Given the description of an element on the screen output the (x, y) to click on. 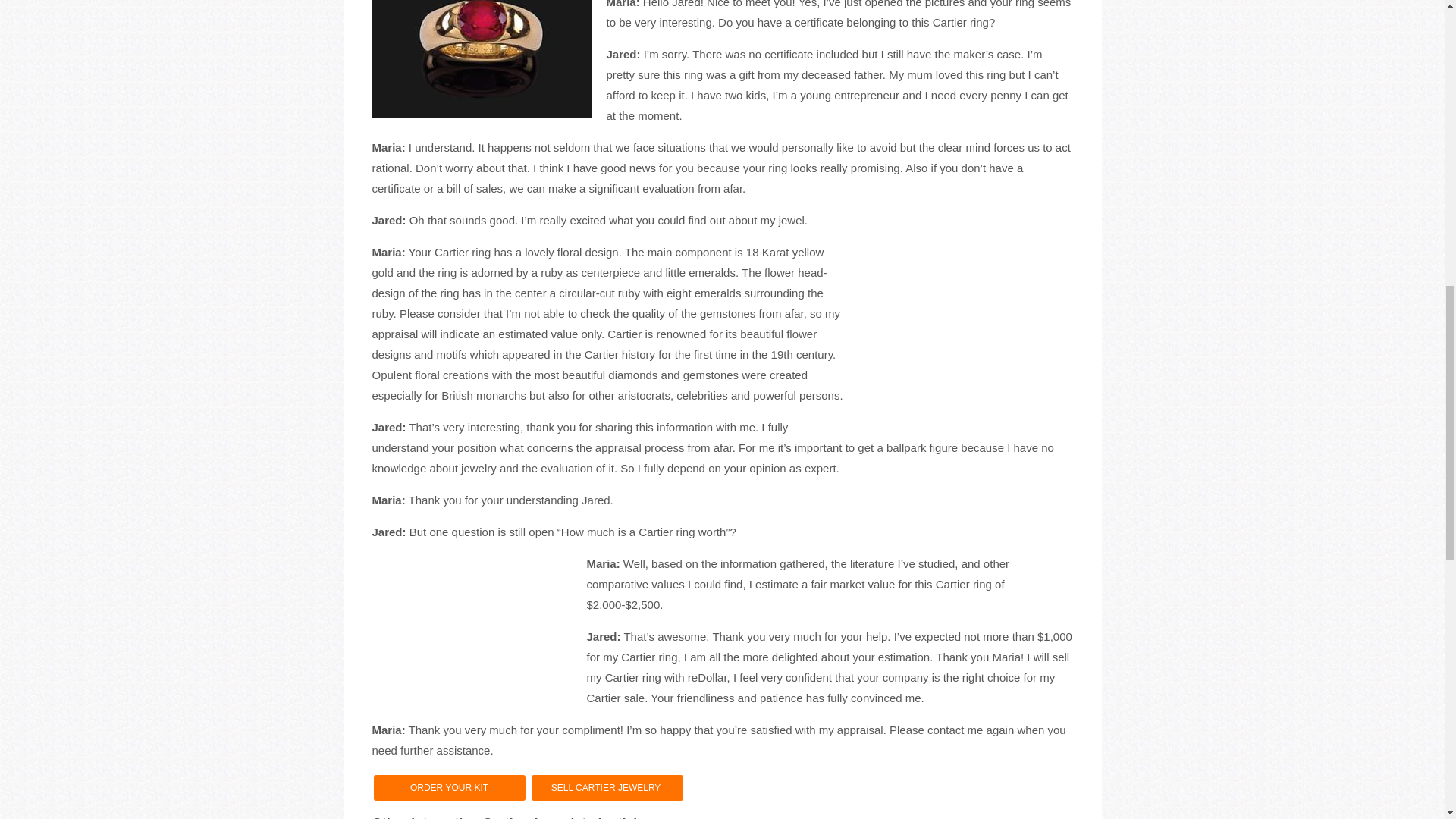
Cartier Trinity ring with diamonds, rubies, and sapphires (470, 638)
Cartier Diamond and Coral cocktail ring (968, 339)
Cartier Garnet Bague Ellipse ring (481, 58)
